Given the description of an element on the screen output the (x, y) to click on. 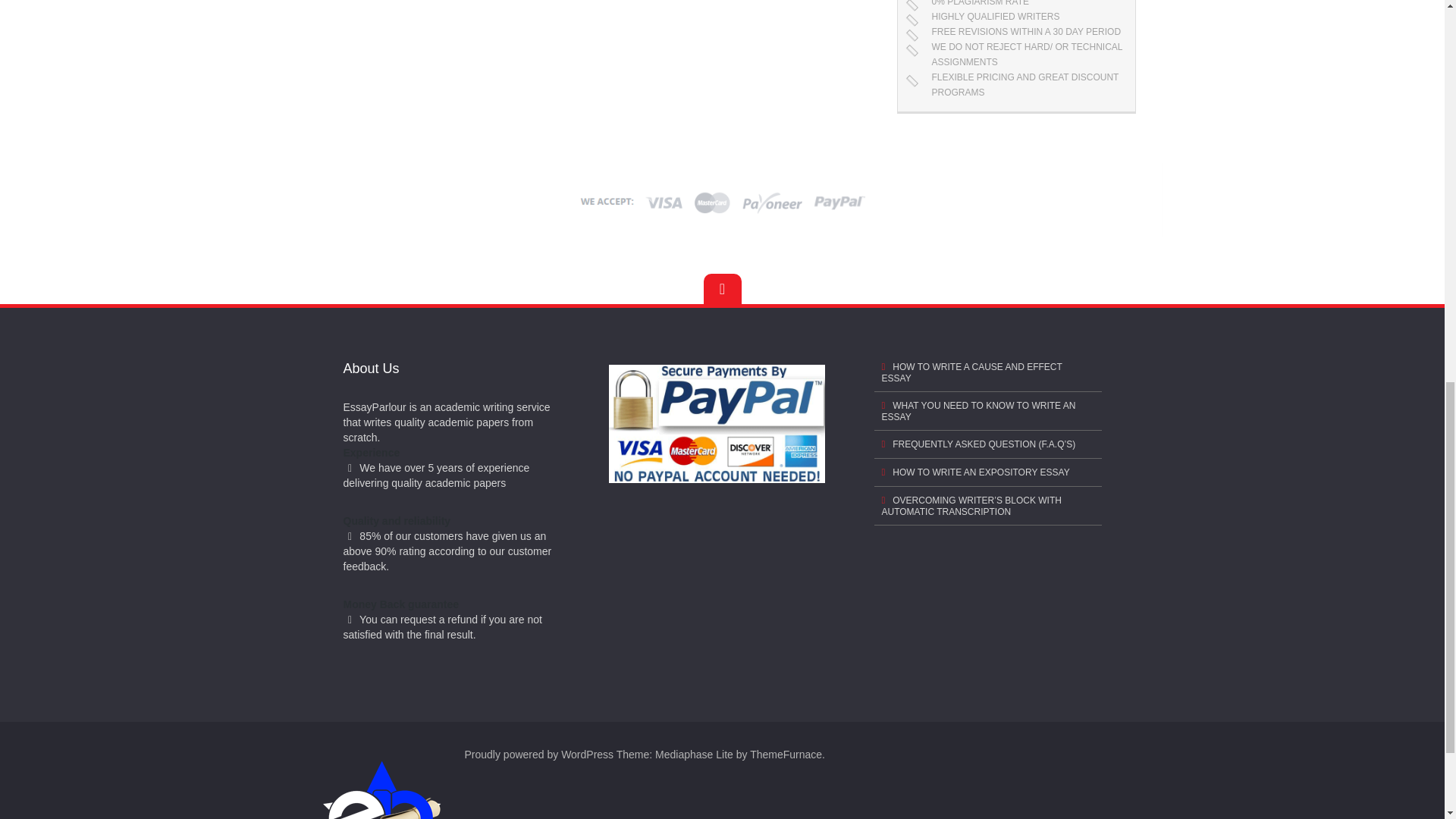
ThemeFurnace (785, 754)
Proudly powered by WordPress (538, 754)
HOW TO WRITE AN EXPOSITORY ESSAY (986, 472)
WHAT YOU NEED TO KNOW TO WRITE AN ESSAY (986, 411)
HOW TO WRITE A CAUSE AND EFFECT ESSAY (986, 372)
